Given the description of an element on the screen output the (x, y) to click on. 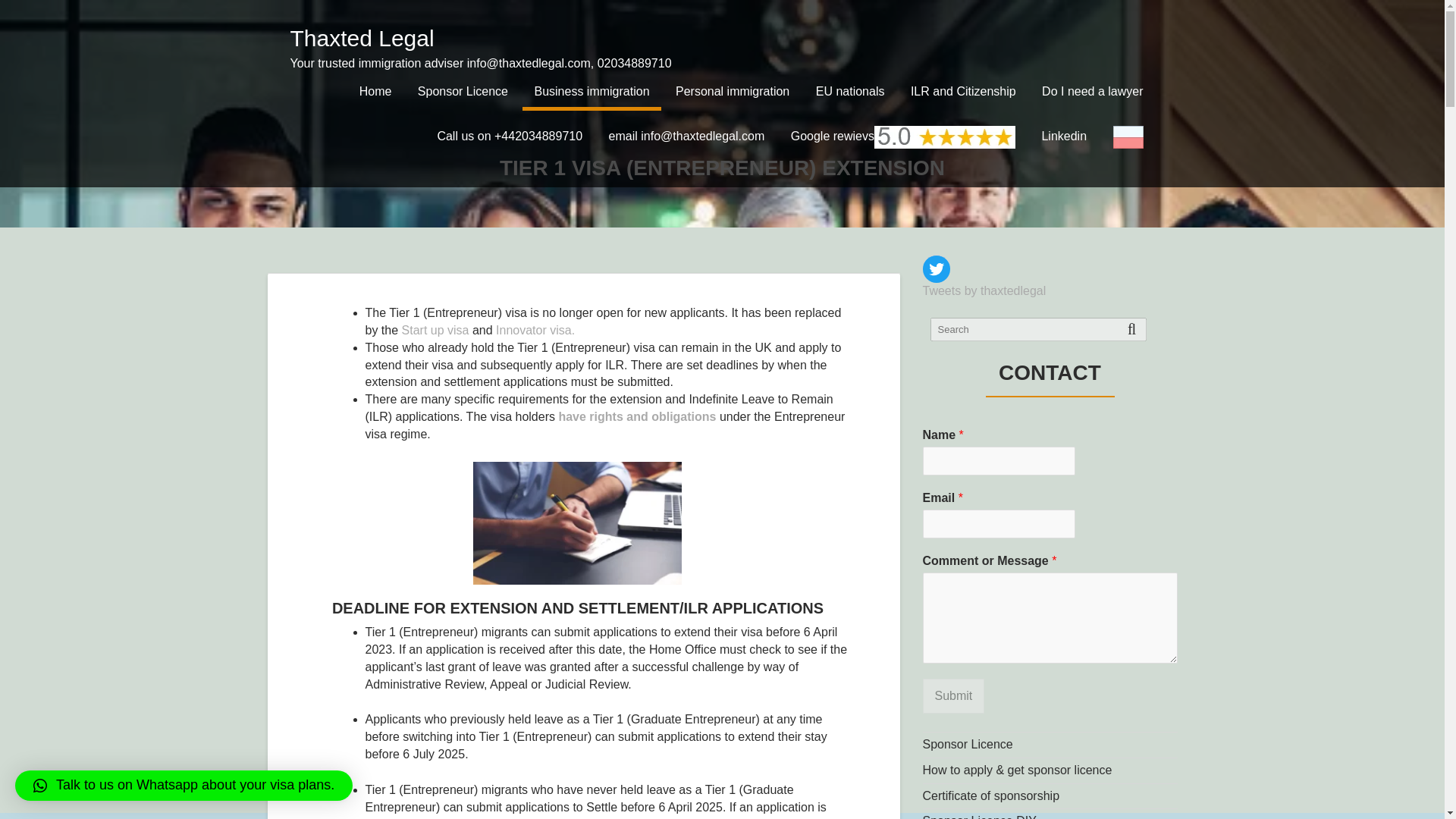
Business immigration (591, 91)
Home (375, 91)
Thaxted Legal (361, 37)
Thaxted Legal (361, 37)
Personal immigration (731, 91)
Sponsor Licence (462, 91)
